Given the description of an element on the screen output the (x, y) to click on. 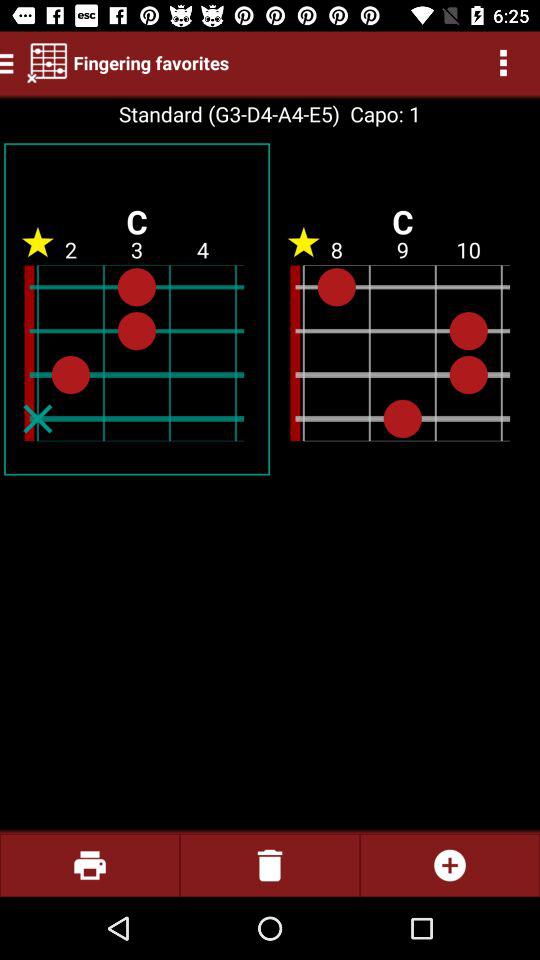
scroll to standard g3 d4 (228, 113)
